Given the description of an element on the screen output the (x, y) to click on. 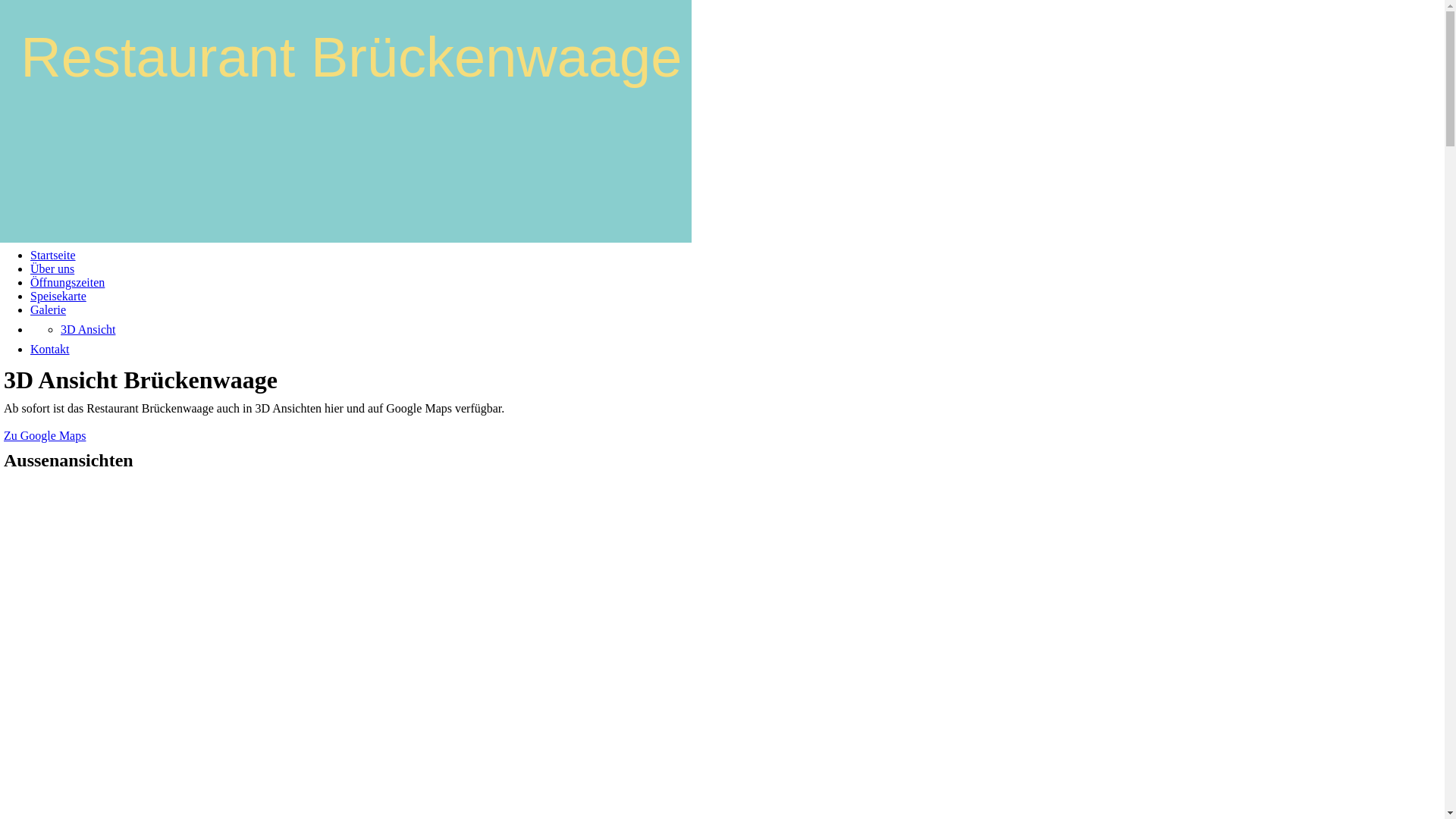
Speisekarte Element type: text (58, 295)
Kontakt Element type: text (49, 348)
Zu Google Maps Element type: text (44, 435)
3D Ansicht Element type: text (87, 329)
Startseite Element type: text (52, 254)
Galerie Element type: text (47, 309)
